Given the description of an element on the screen output the (x, y) to click on. 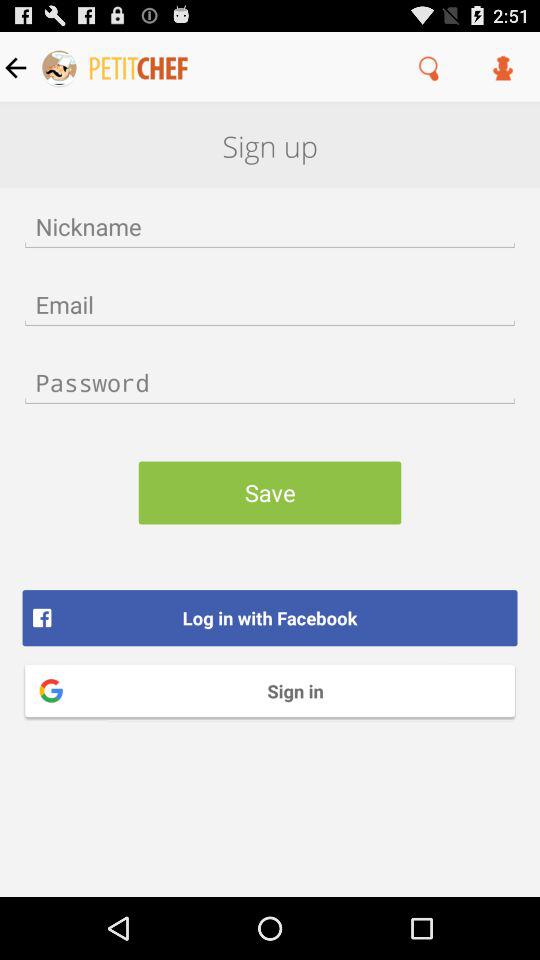
enter email (269, 304)
